Given the description of an element on the screen output the (x, y) to click on. 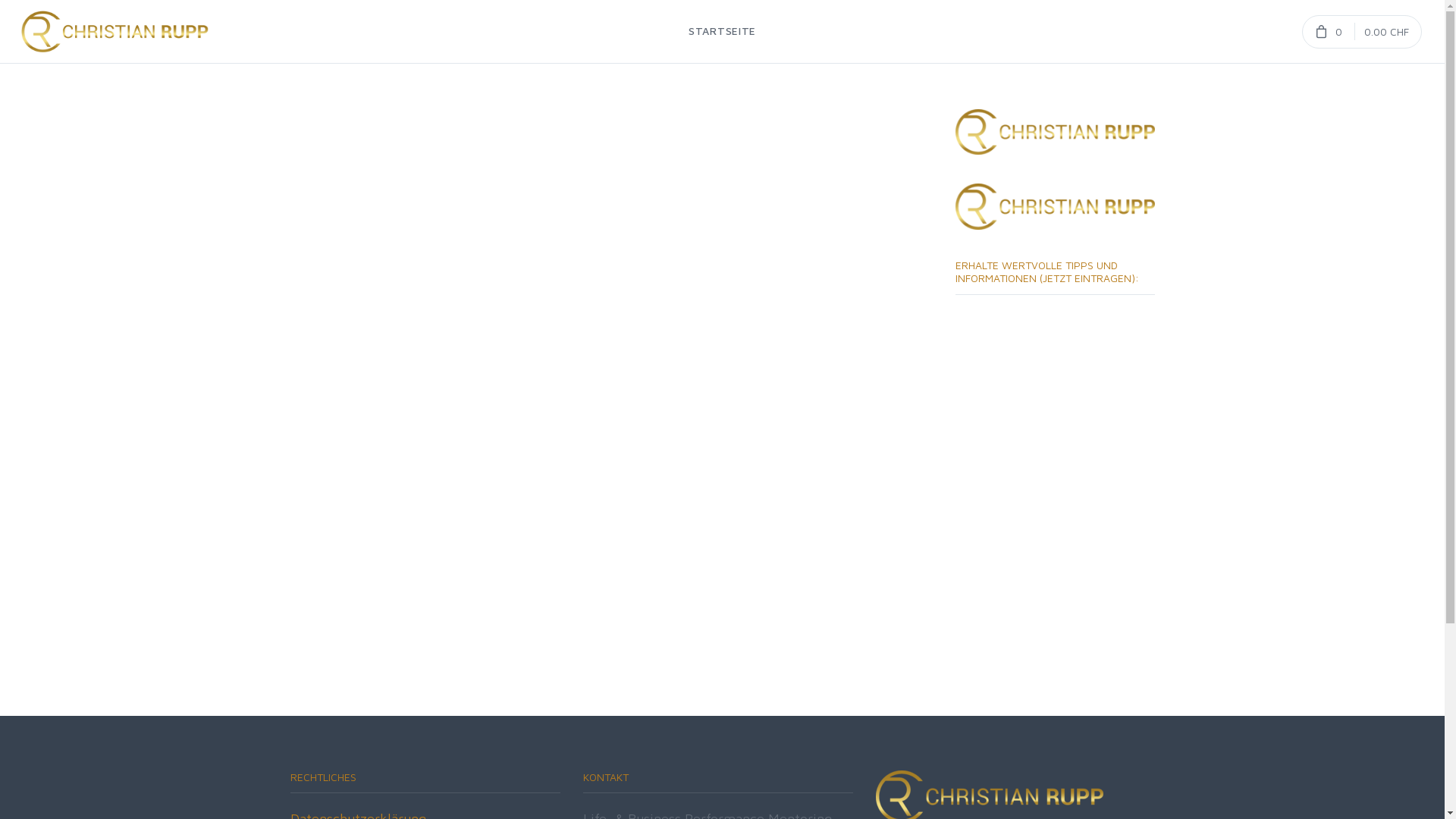
View Cart Element type: hover (1361, 31)
STARTSEITE Element type: text (722, 31)
